Given the description of an element on the screen output the (x, y) to click on. 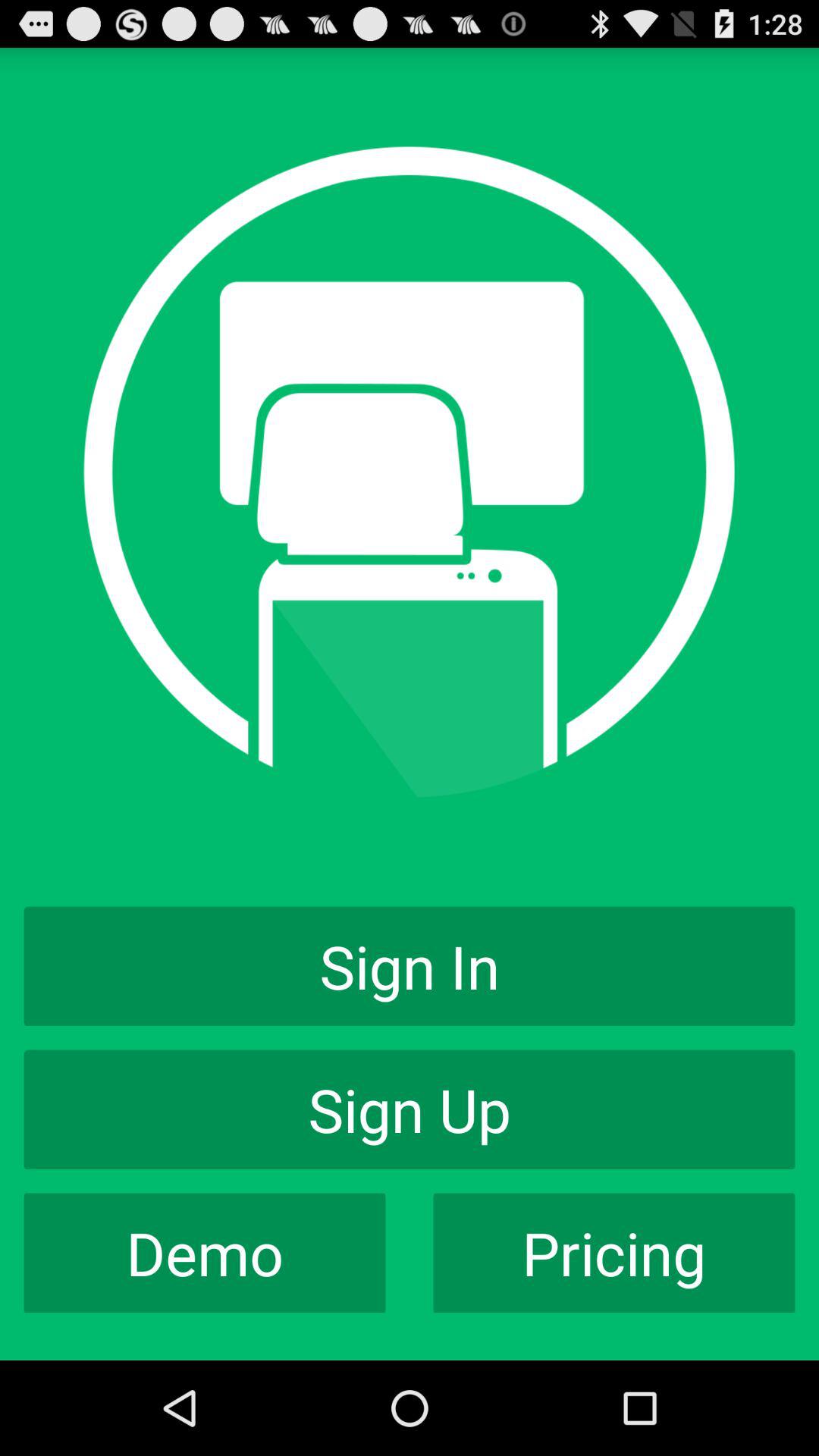
press the item next to pricing app (204, 1252)
